Given the description of an element on the screen output the (x, y) to click on. 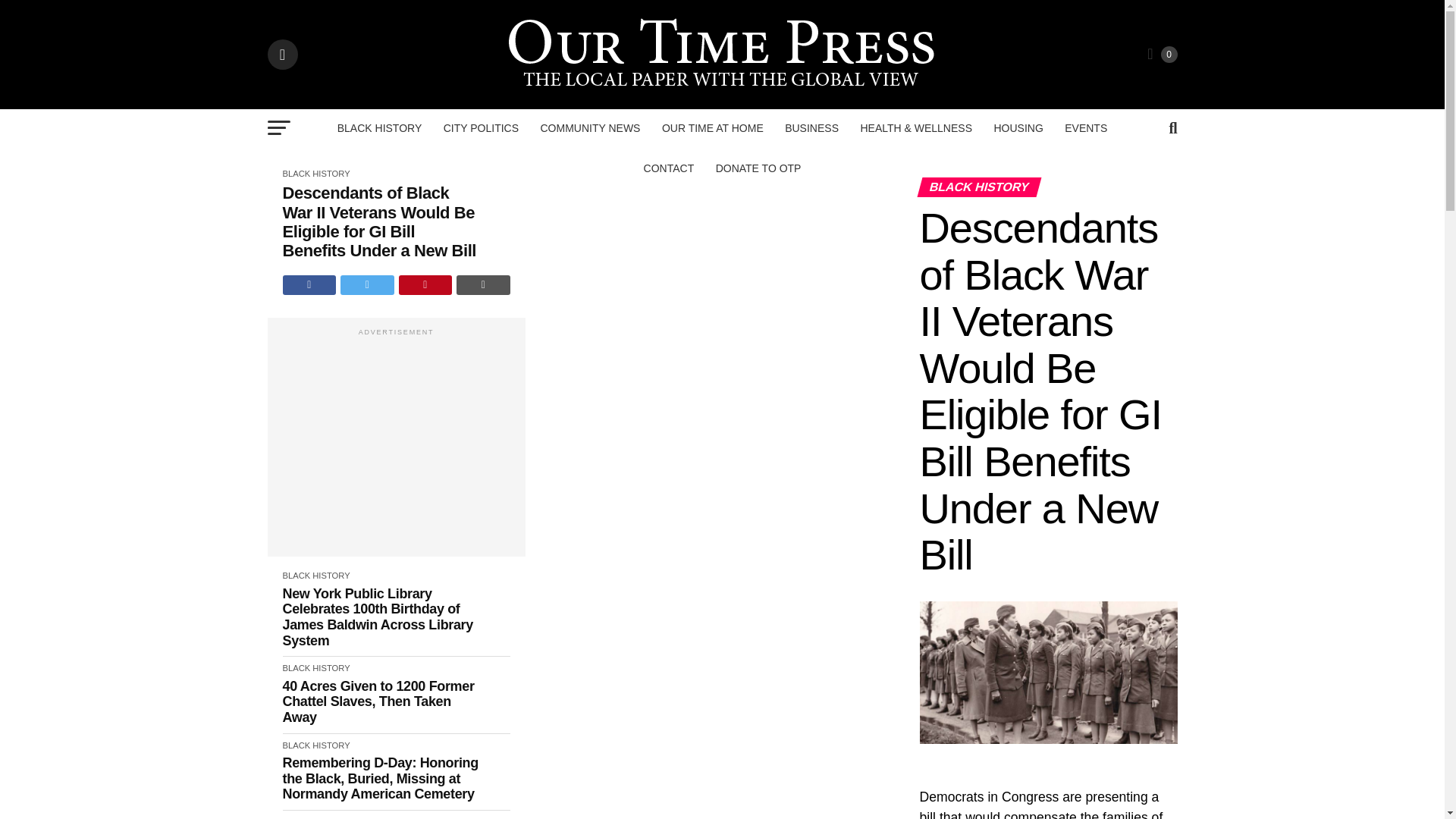
Share on Facebook (309, 284)
CITY POLITICS (480, 127)
COMMUNITY NEWS (590, 127)
OUR TIME AT HOME (712, 127)
BLACK HISTORY (379, 127)
Tweet This Post (367, 284)
Advertisement (395, 445)
Pin This Post (425, 284)
